Given the description of an element on the screen output the (x, y) to click on. 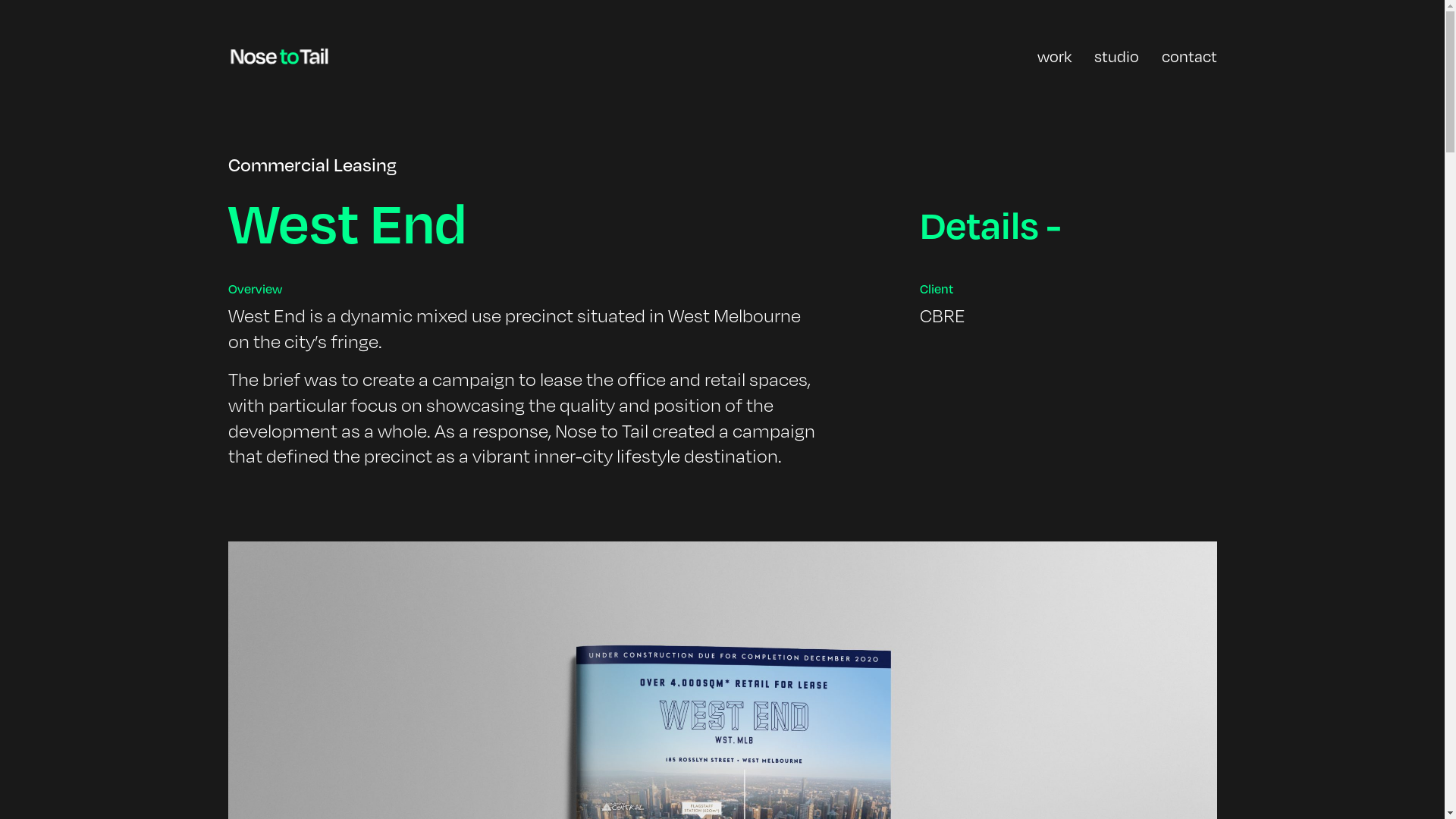
Details Element type: text (1067, 223)
contact Element type: text (1189, 55)
work Element type: text (1054, 55)
studio Element type: text (1115, 55)
